Given the description of an element on the screen output the (x, y) to click on. 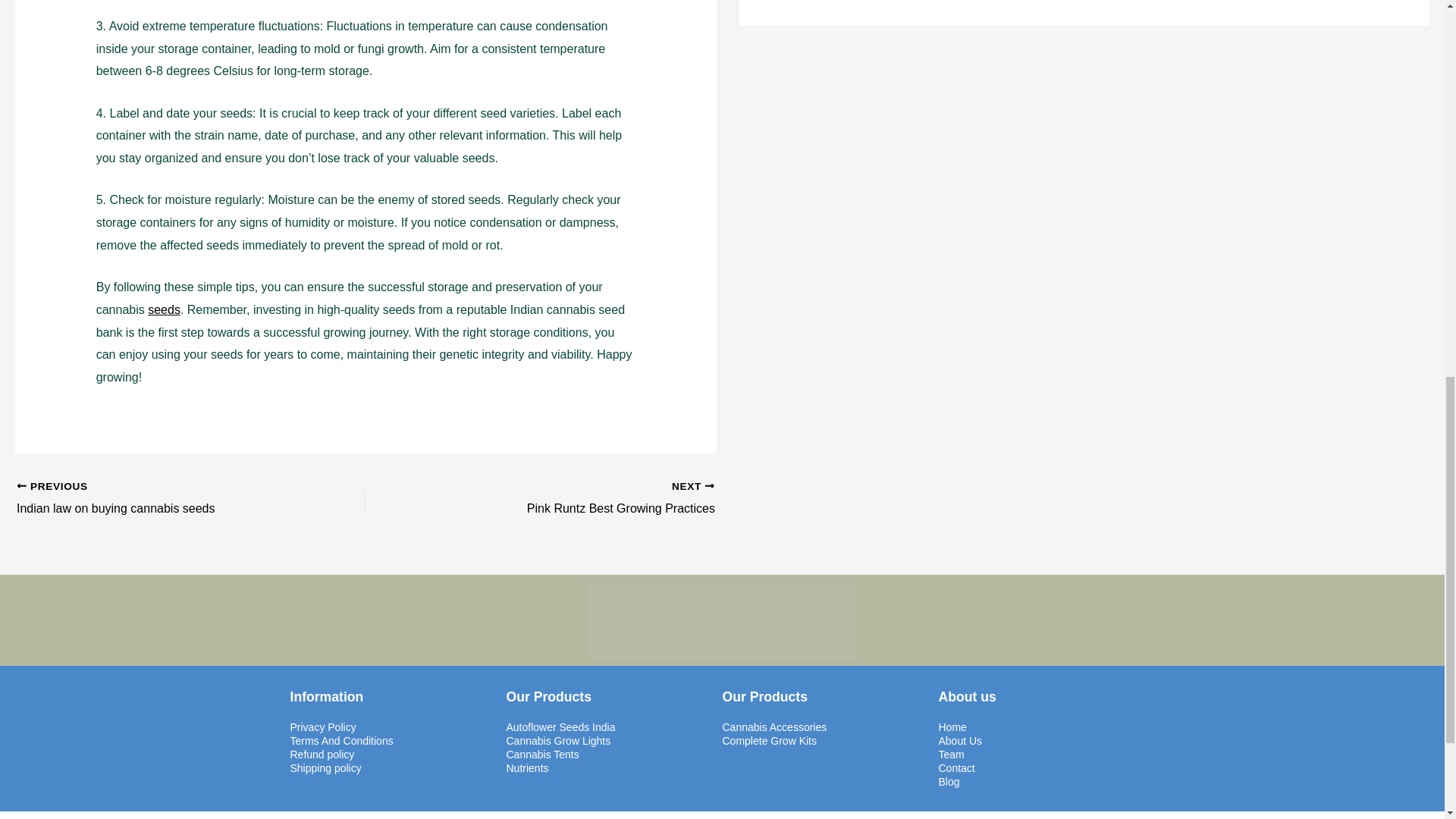
wave (722, 620)
Indian law on buying cannabis seeds (156, 498)
Pink Runtz Best Growing Practices (573, 498)
